Given the description of an element on the screen output the (x, y) to click on. 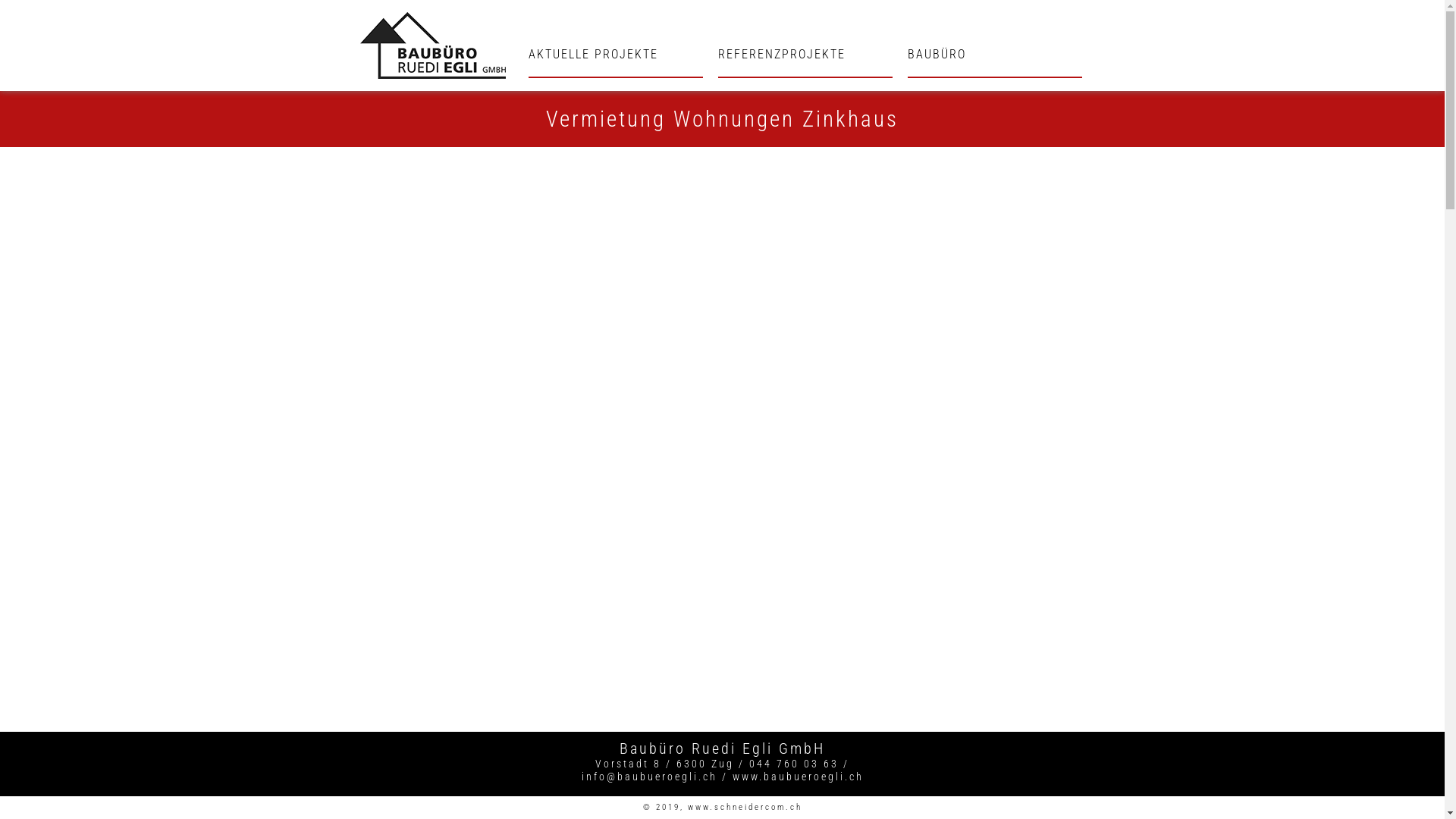
www.schneidercom.ch Element type: text (744, 807)
REFERENZPROJEKTE Element type: text (805, 62)
AKTUELLE PROJEKTE Element type: text (615, 62)
